Given the description of an element on the screen output the (x, y) to click on. 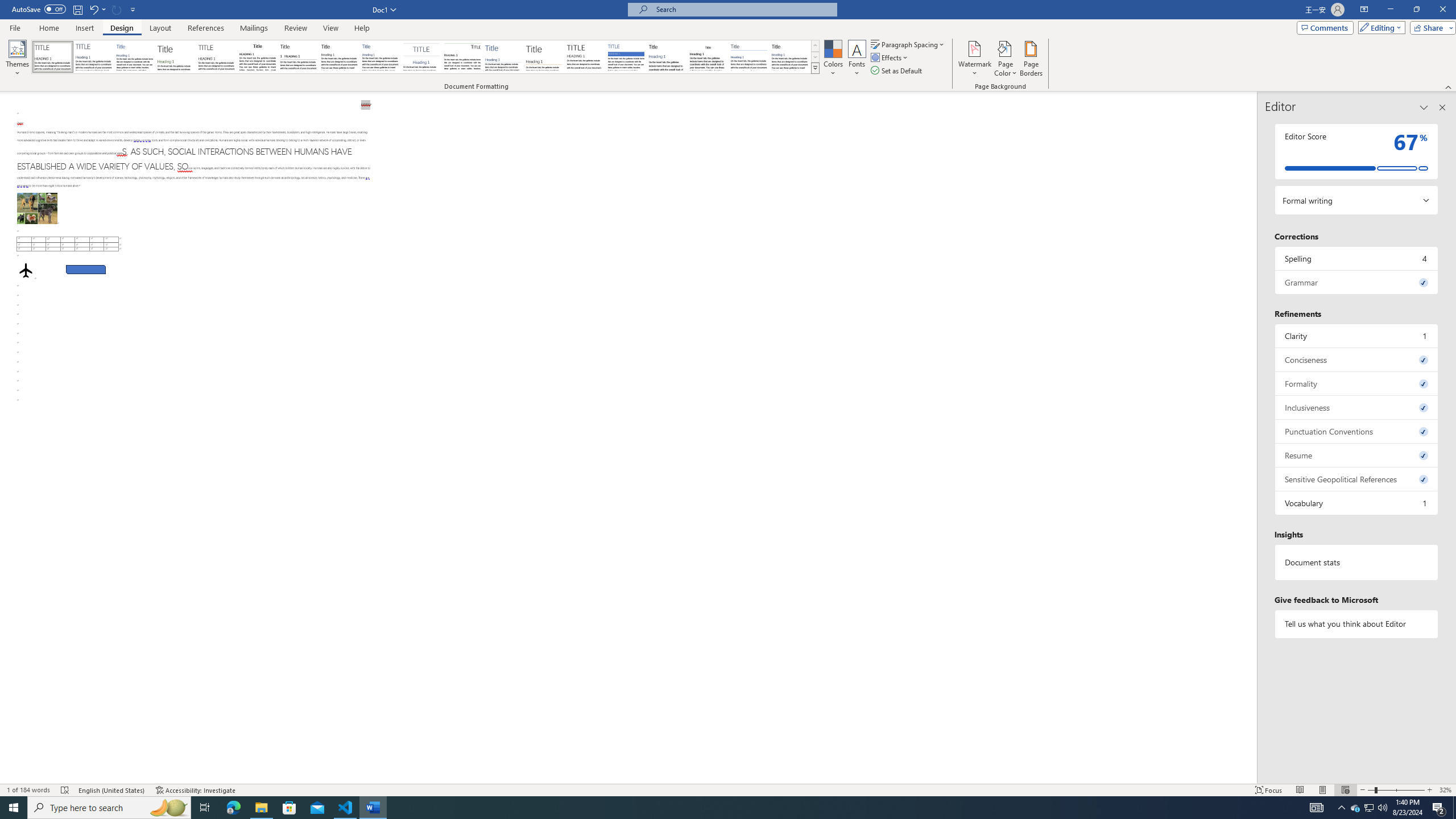
Basic (Elegant) (93, 56)
Page Borders... (1031, 58)
Word Count 1 of 184 words (28, 790)
Accessibility Checker Accessibility: Investigate (195, 790)
Word (666, 56)
Vocabulary, 1 issue. Press space or enter to review items. (1356, 502)
Formality, 0 issues. Press space or enter to review items. (1356, 383)
Rectangle: Diagonal Corners Snipped 2 (85, 269)
Document (52, 56)
Undo Paragraph Alignment (92, 9)
Lines (Simple) (503, 56)
Lines (Stylish) (544, 56)
